Given the description of an element on the screen output the (x, y) to click on. 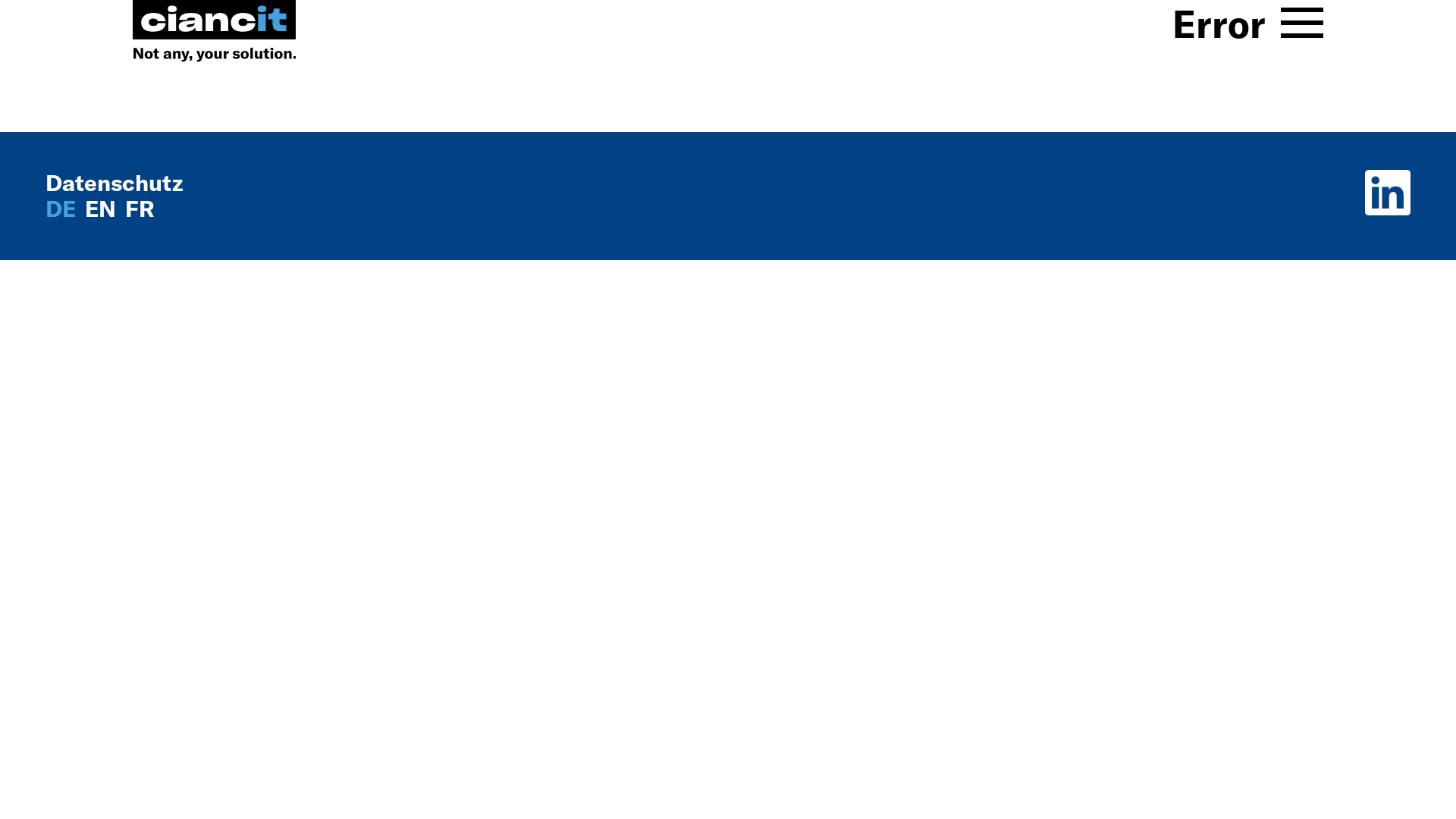
Datenschutz Element type: text (113, 182)
EN Element type: text (102, 208)
FR Element type: text (139, 208)
DE Element type: text (63, 208)
